Given the description of an element on the screen output the (x, y) to click on. 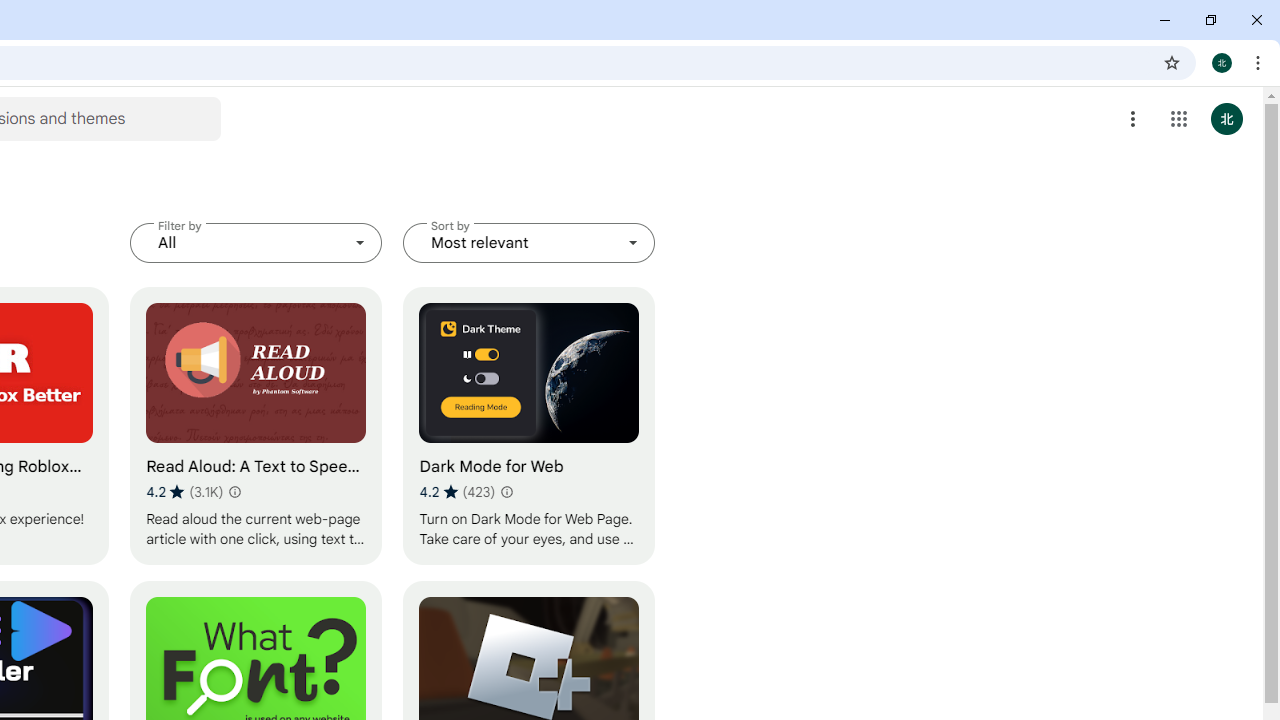
Sort by Most relevant (529, 242)
Filter by All (256, 242)
Read Aloud: A Text to Speech Voice Reader (256, 426)
Average rating 4.2 out of 5 stars. 3.1K ratings. (184, 491)
Learn more about results and reviews "Dark Mode for Web" (506, 491)
